Given the description of an element on the screen output the (x, y) to click on. 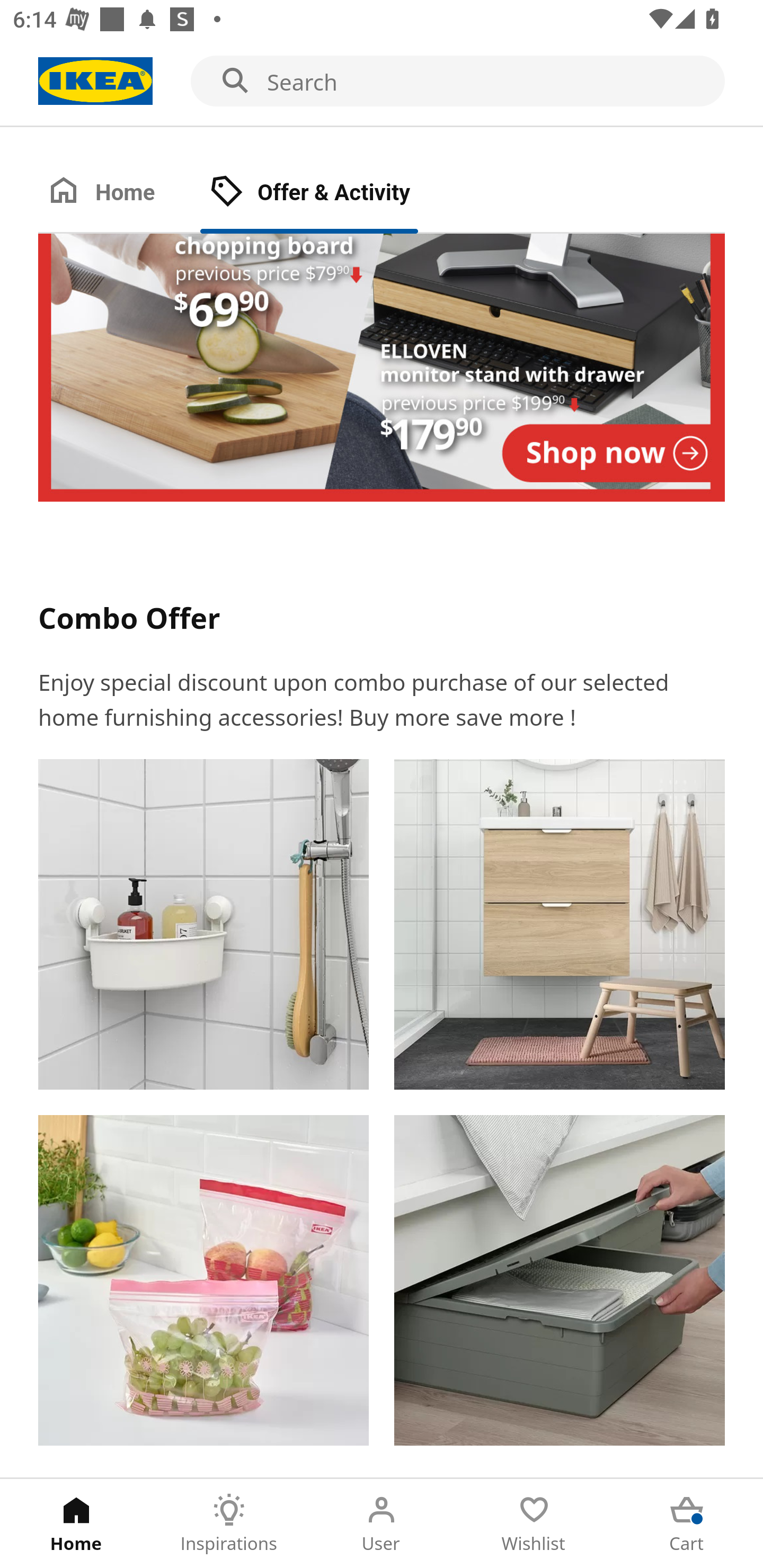
Search (381, 81)
Home
Tab 1 of 2 (118, 192)
Offer & Activity
Tab 2 of 2 (327, 192)
Home
Tab 1 of 5 (76, 1522)
Inspirations
Tab 2 of 5 (228, 1522)
User
Tab 3 of 5 (381, 1522)
Wishlist
Tab 4 of 5 (533, 1522)
Cart
Tab 5 of 5 (686, 1522)
